Given the description of an element on the screen output the (x, y) to click on. 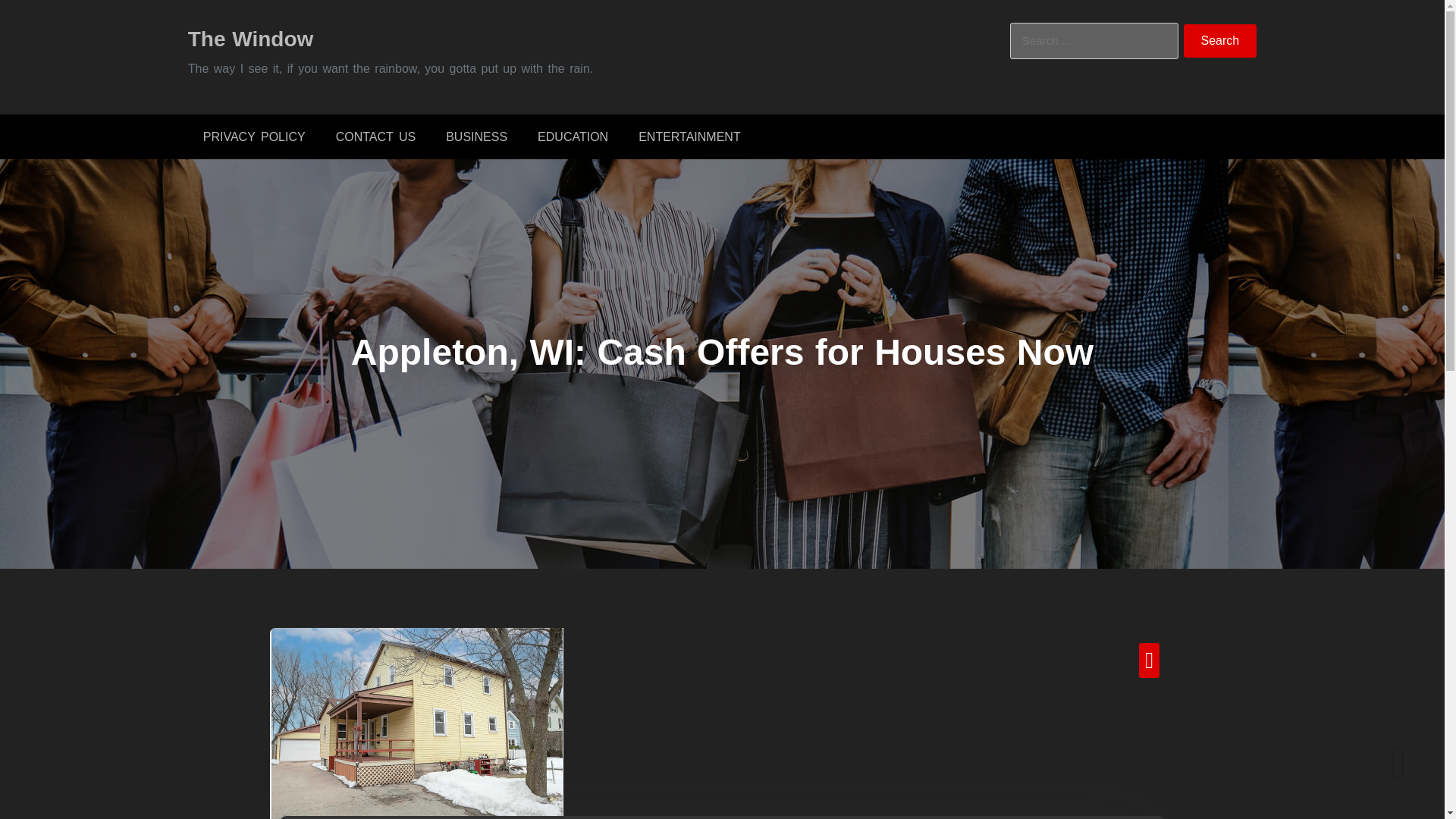
ENTERTAINMENT (689, 136)
Search (1220, 40)
EDUCATION (572, 136)
PRIVACY POLICY (253, 136)
The Window (250, 38)
Search (1220, 40)
Search (1220, 40)
CONTACT US (375, 136)
BUSINESS (476, 136)
